Given the description of an element on the screen output the (x, y) to click on. 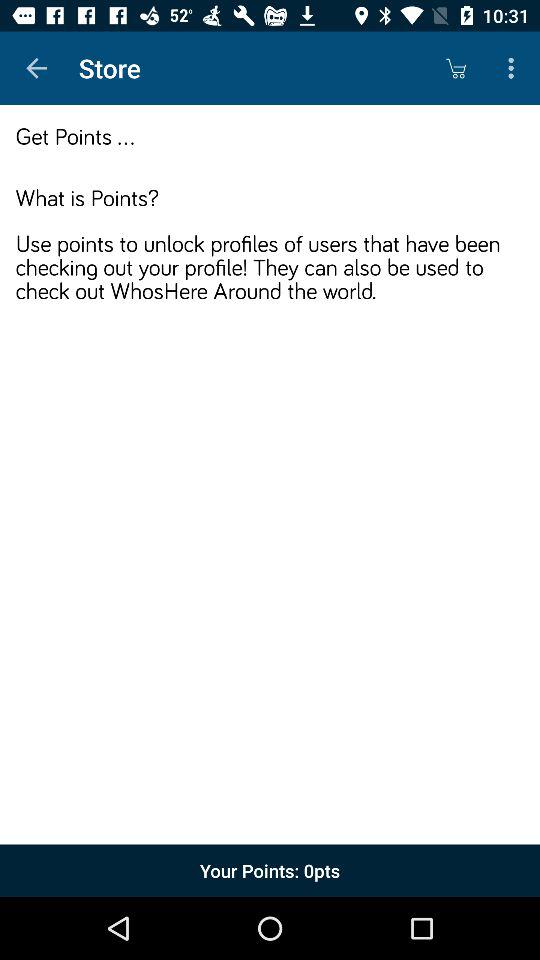
press the app to the left of the store icon (36, 68)
